Given the description of an element on the screen output the (x, y) to click on. 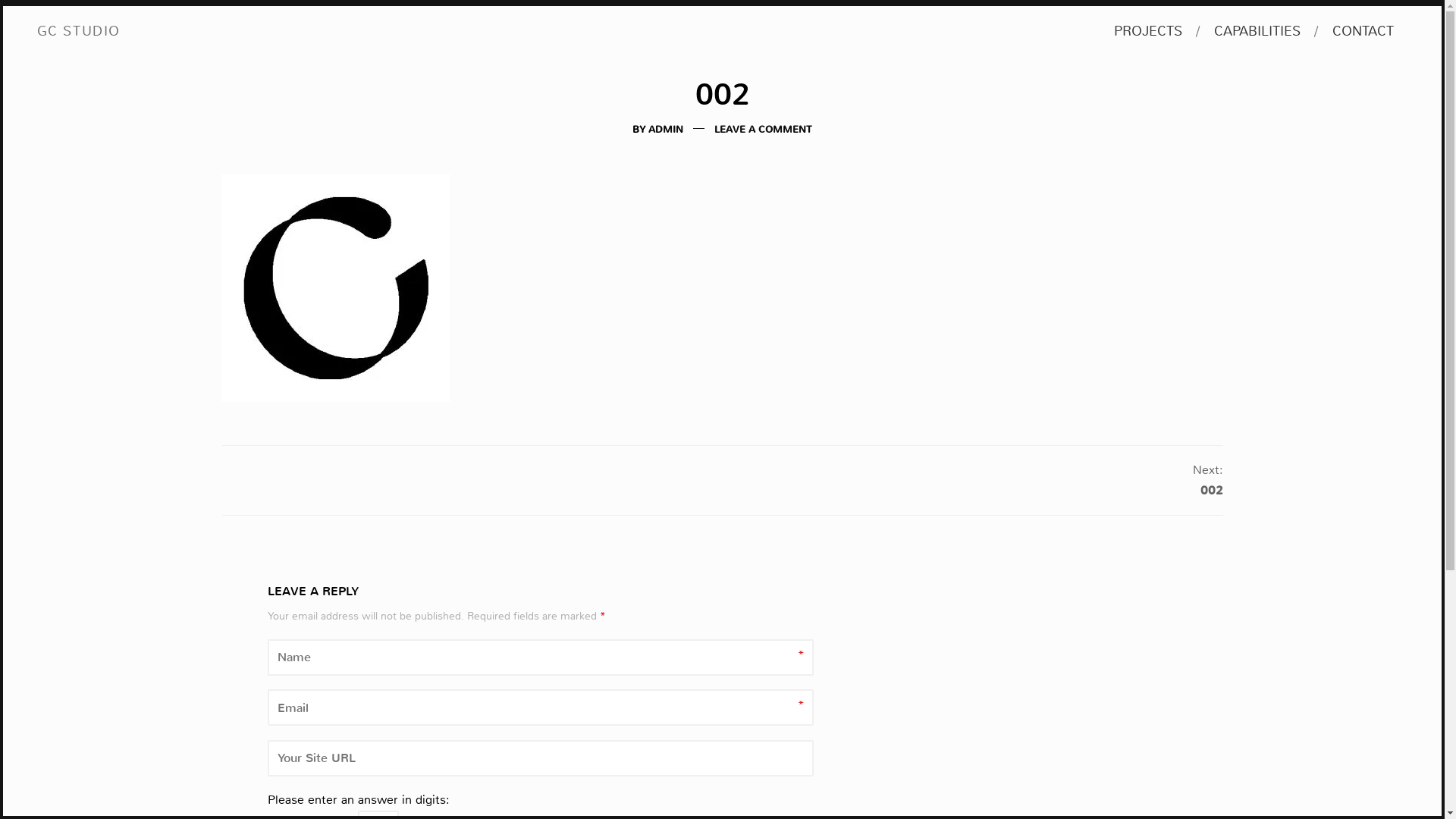
CAPABILITIES Element type: text (1256, 31)
PROJECTS Element type: text (1147, 31)
002 Element type: text (1210, 490)
ADMIN Element type: text (665, 128)
Skip to content Element type: text (36, 29)
CONTACT Element type: text (1362, 31)
GC STUDIO Element type: text (78, 31)
LEAVE A COMMENT Element type: text (763, 128)
